Given the description of an element on the screen output the (x, y) to click on. 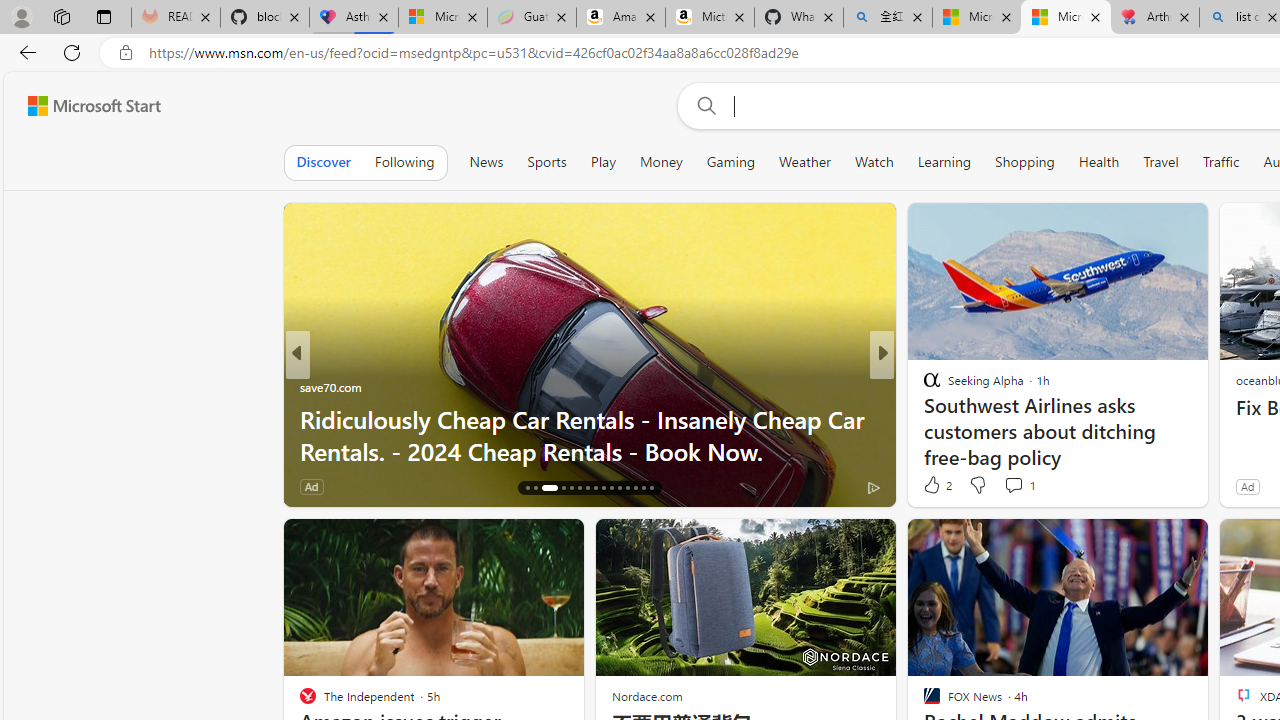
Travel (1160, 161)
16 Like (934, 486)
The Independent (923, 386)
AutomationID: tab-30 (650, 487)
AutomationID: tab-17 (535, 487)
Arthritis: Ask Health Professionals (1155, 17)
Health (1098, 162)
The Conversation (923, 418)
25 Like (934, 486)
